Given the description of an element on the screen output the (x, y) to click on. 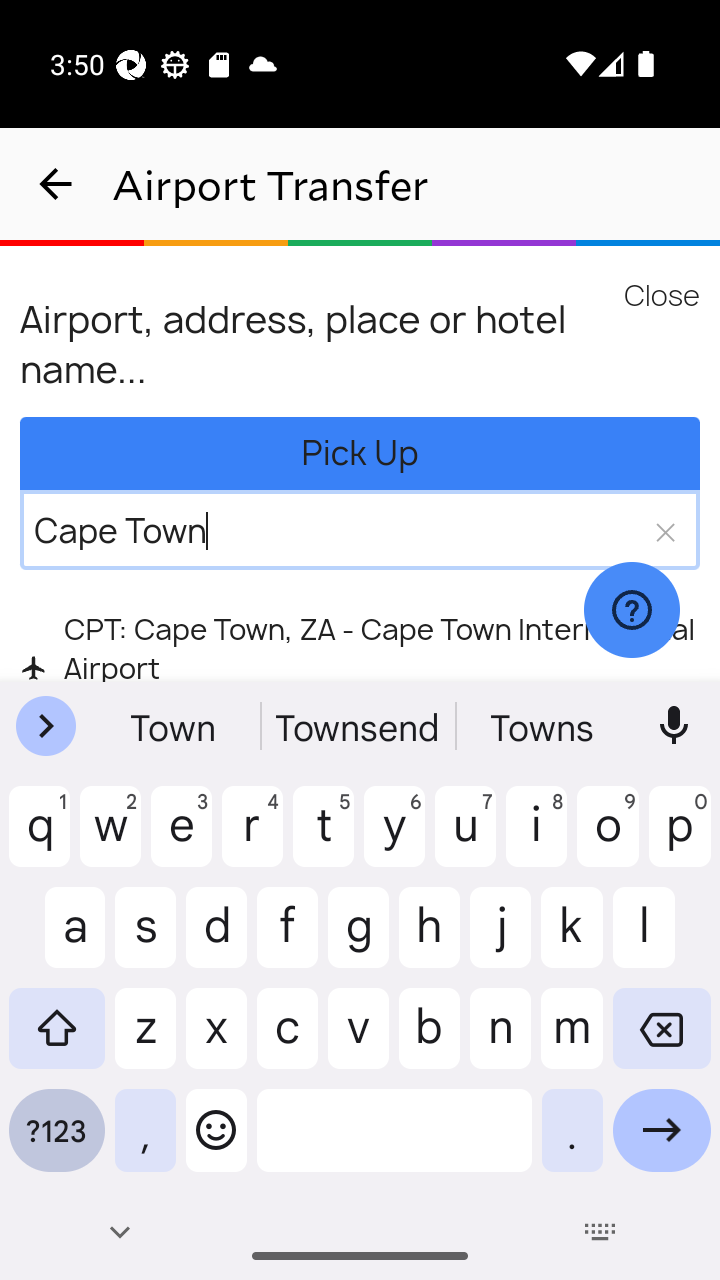
navigation_button (56, 184)
menu (661, 295)
Cape Town (331, 530)
✕ (664, 530)
Opens a widget where you can find more information (631, 611)
